Given the description of an element on the screen output the (x, y) to click on. 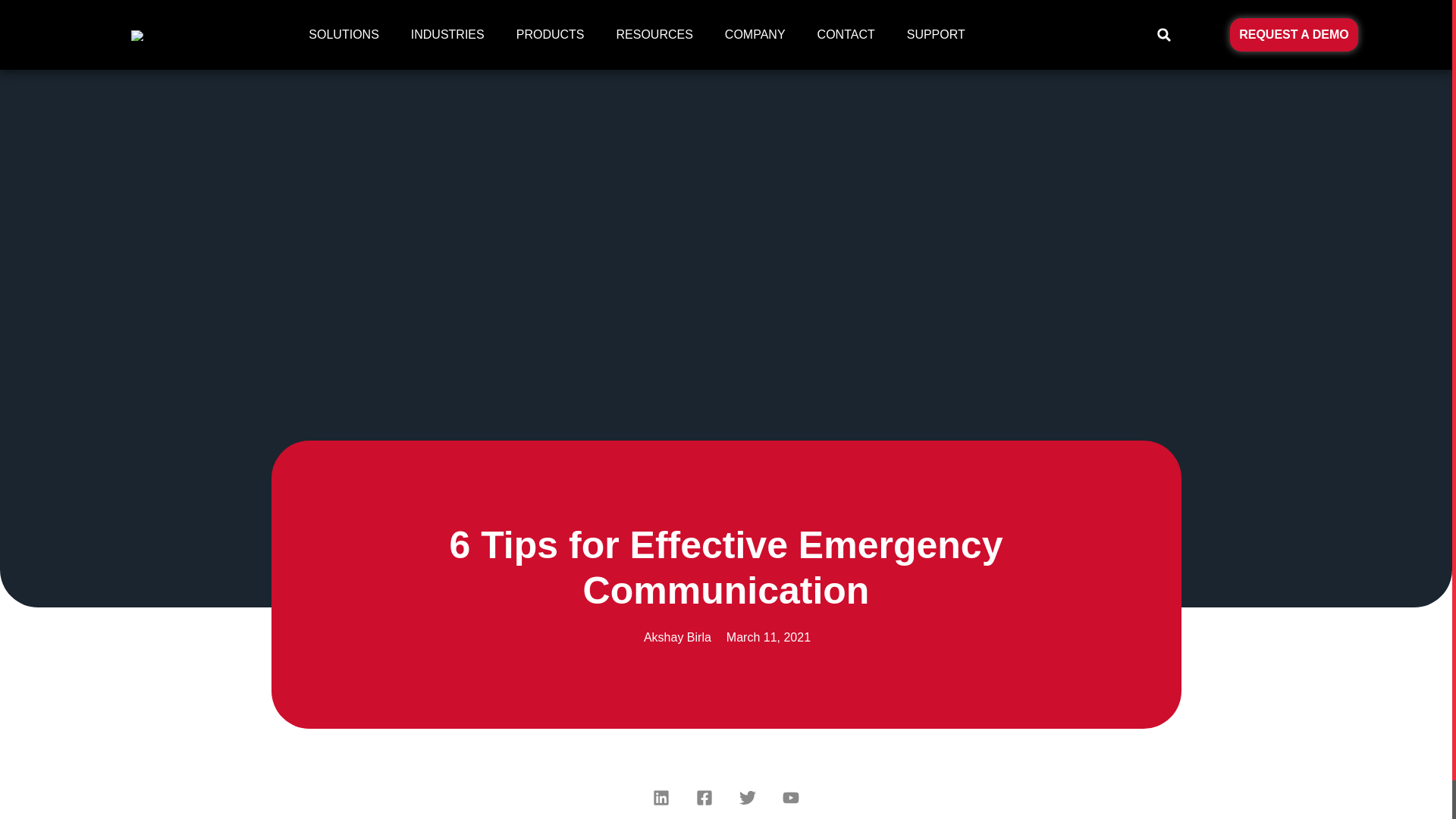
RESOURCES (657, 34)
PRODUCTS (553, 34)
SOLUTIONS (347, 34)
INDUSTRIES (450, 34)
